Given the description of an element on the screen output the (x, y) to click on. 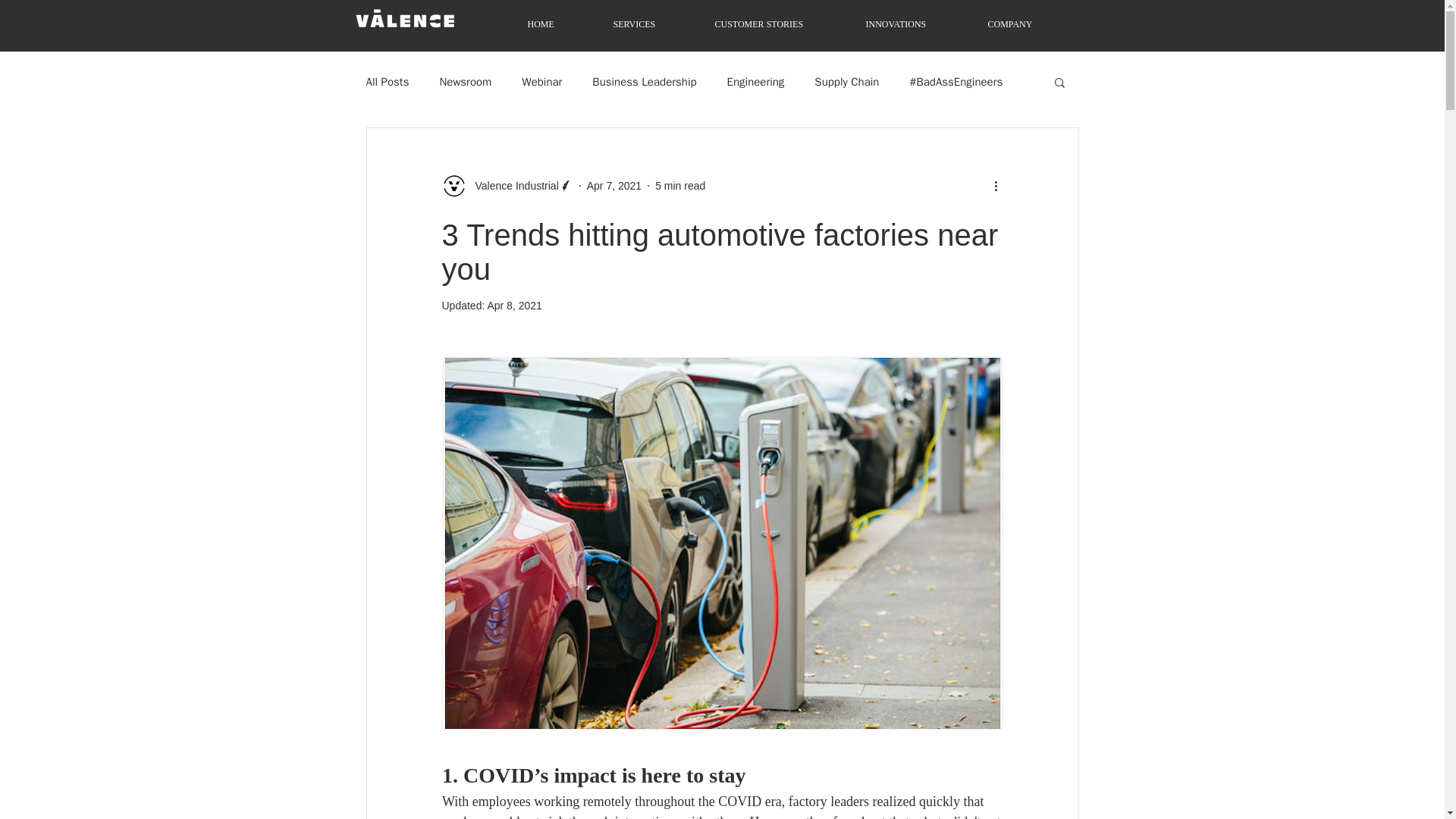
Newsroom (465, 81)
Business Leadership (643, 81)
5 min read (679, 184)
Valence Industrial (506, 185)
Apr 8, 2021 (513, 305)
Engineering (755, 81)
SERVICES (654, 24)
Valence Industrial (511, 185)
Webinar (541, 81)
HOME (559, 24)
All Posts (387, 81)
Apr 7, 2021 (614, 184)
INNOVATIONS (916, 24)
CUSTOMER STORIES (780, 24)
Supply Chain (846, 81)
